Given the description of an element on the screen output the (x, y) to click on. 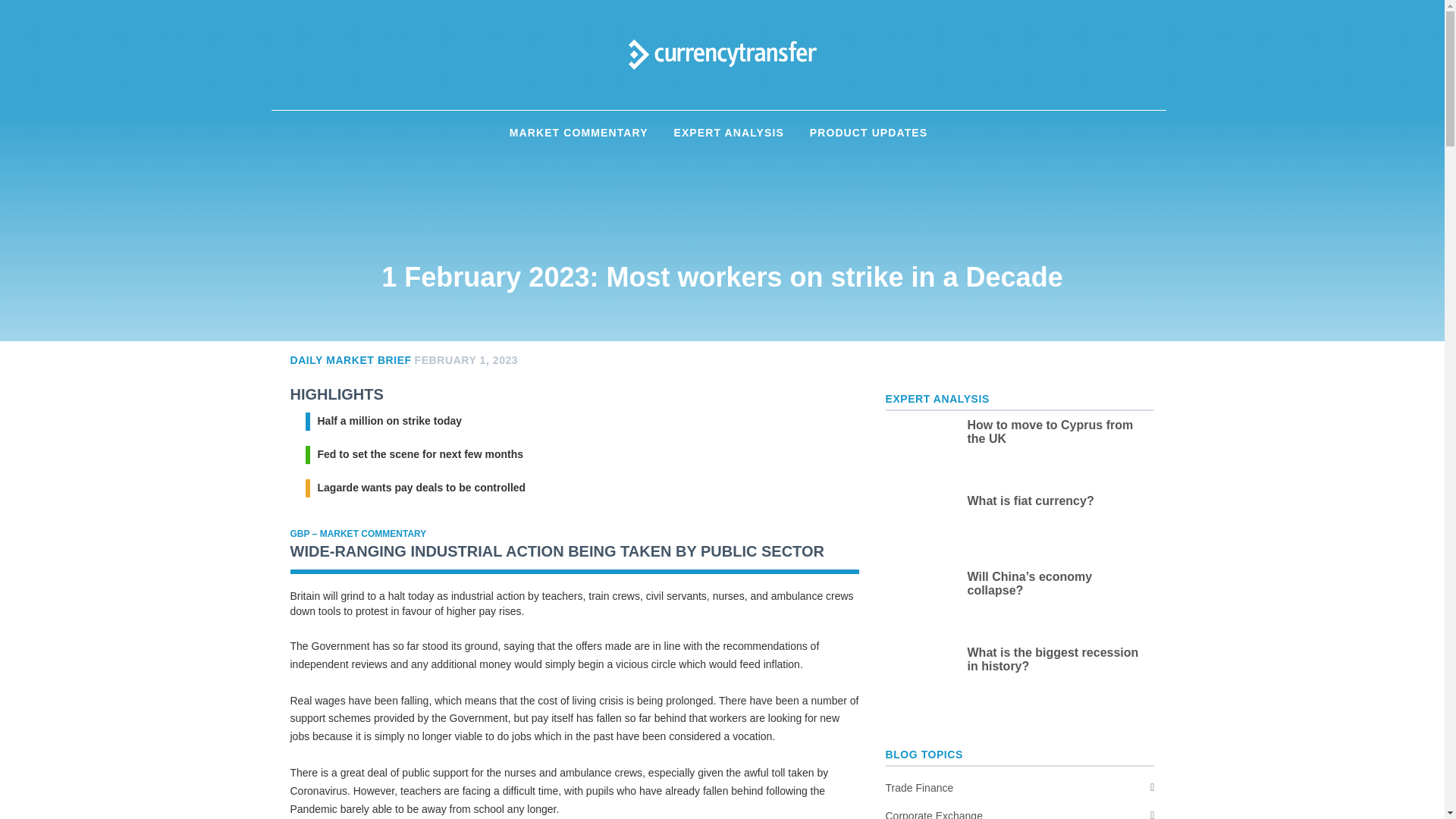
What is the biggest recession in history? (1057, 659)
How to move to Cyprus from the UK (1057, 431)
PRODUCT UPDATES (868, 133)
EXPERT ANALYSIS (728, 133)
DAILY MARKET BRIEF (349, 359)
What is fiat currency? (1057, 500)
MARKET COMMENTARY (578, 133)
